Given the description of an element on the screen output the (x, y) to click on. 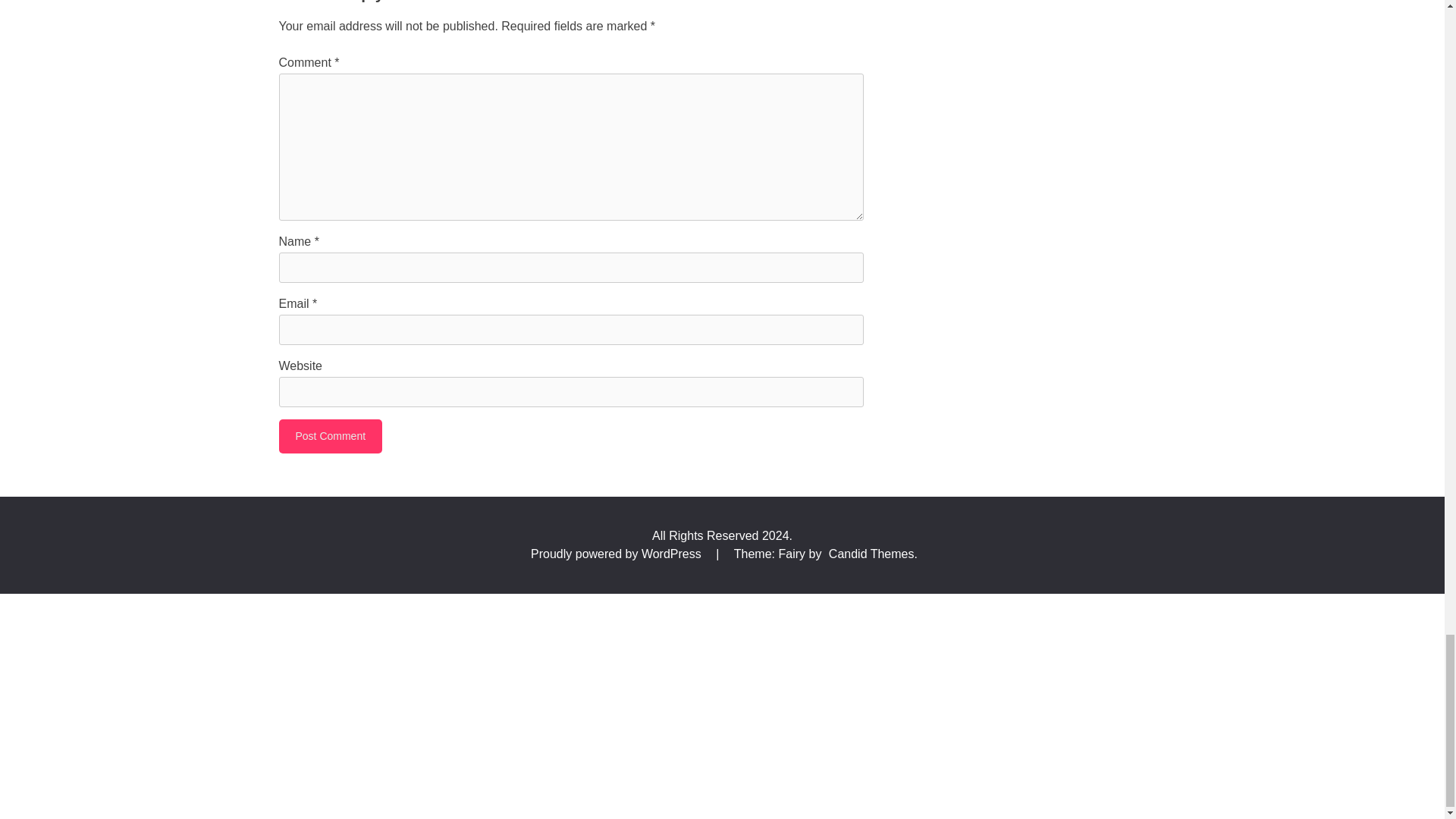
Post Comment (330, 436)
